Given the description of an element on the screen output the (x, y) to click on. 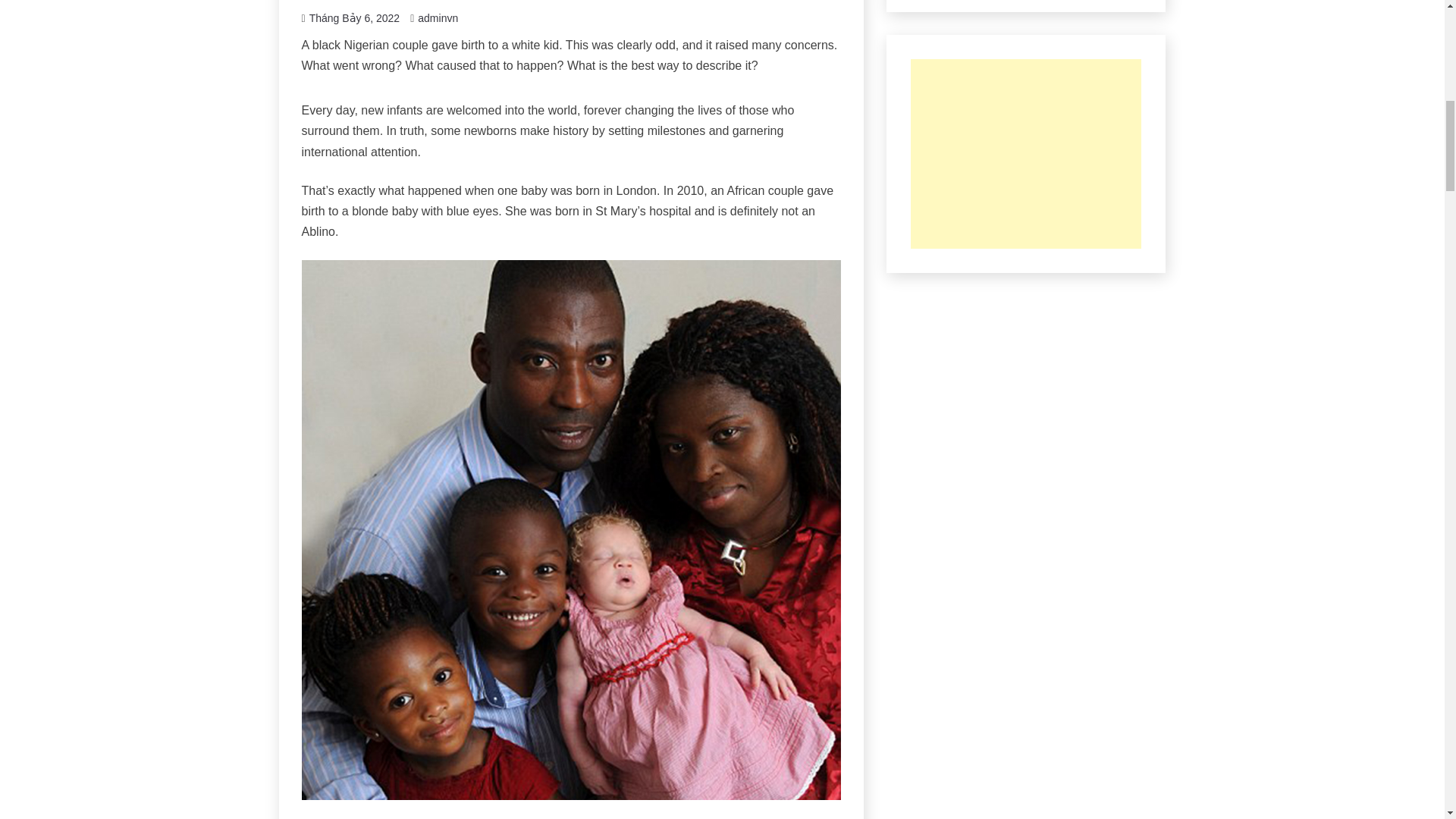
Advertisement (1026, 153)
adminvn (437, 18)
